Given the description of an element on the screen output the (x, y) to click on. 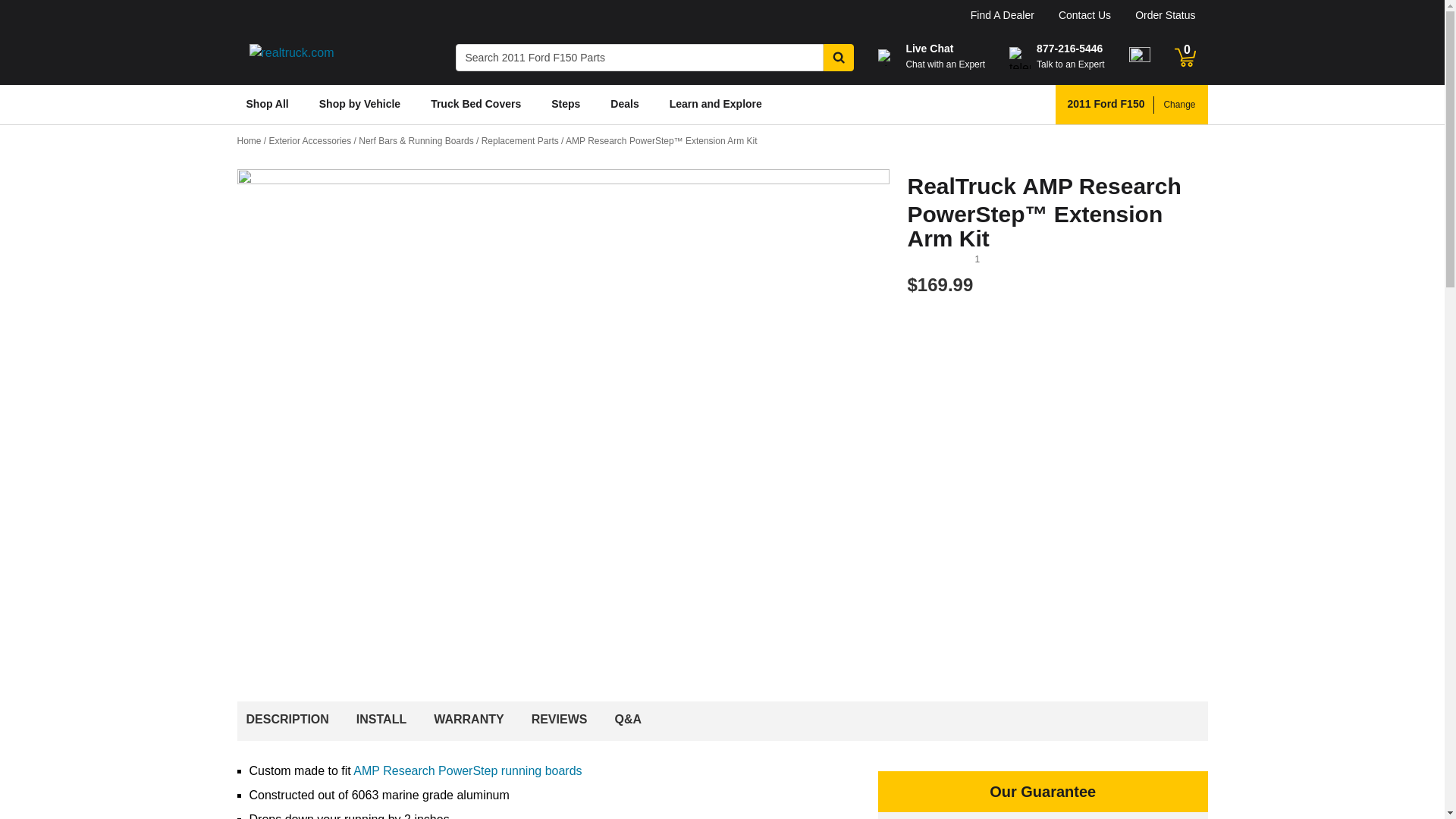
Find A Dealer (1002, 15)
Live Chat (929, 48)
Replacement Parts (523, 140)
Chat with an Expert (945, 64)
Deals (624, 104)
Order Status (1165, 15)
Contact Us (1084, 15)
0 (1184, 56)
AMP Research PowerStep running boards (466, 770)
Exterior Accessories (314, 140)
Home (251, 140)
AMP Research PowerStep Running Boards (466, 770)
